Given the description of an element on the screen output the (x, y) to click on. 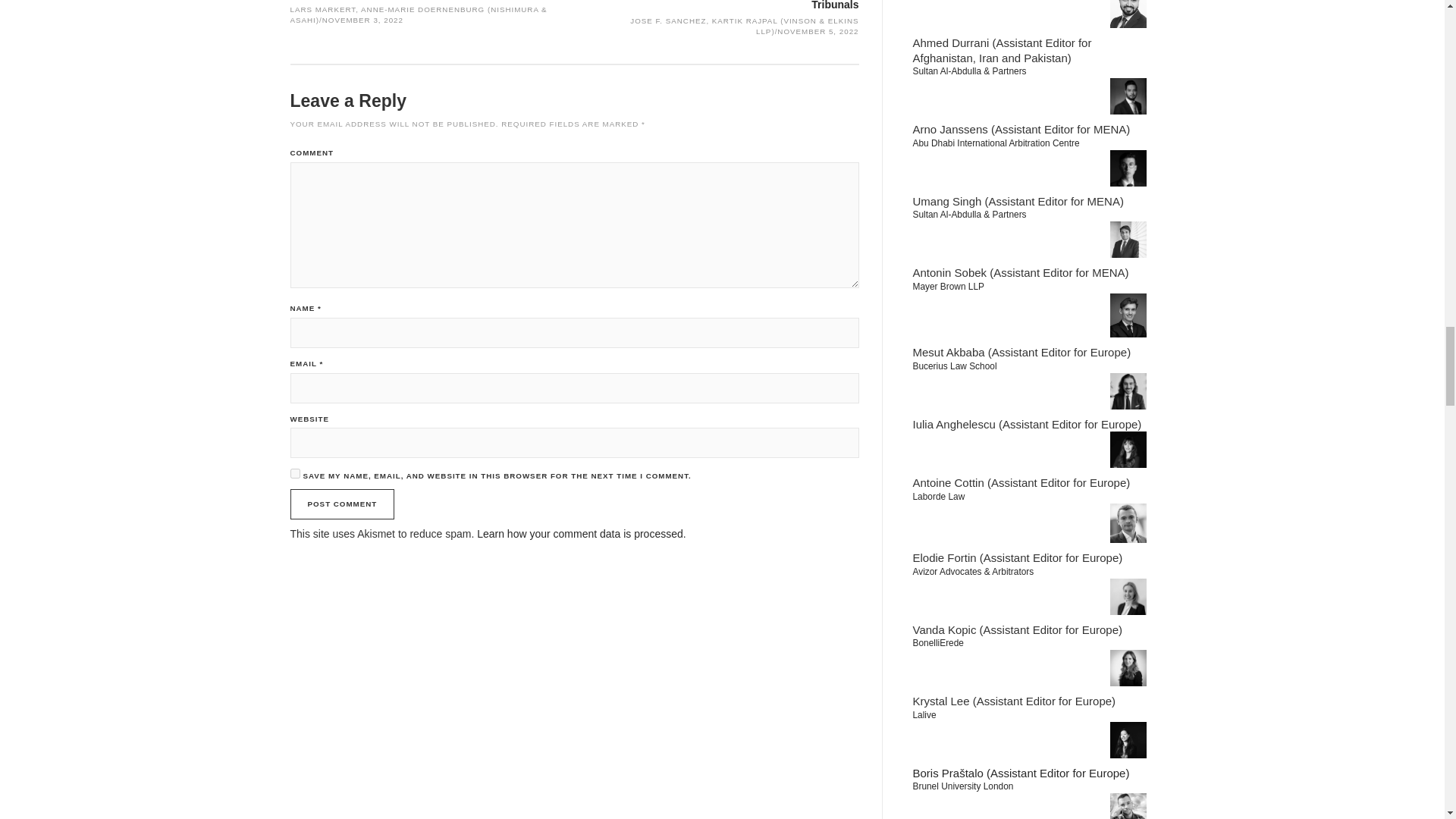
yes (294, 473)
Post Comment (341, 503)
